Given the description of an element on the screen output the (x, y) to click on. 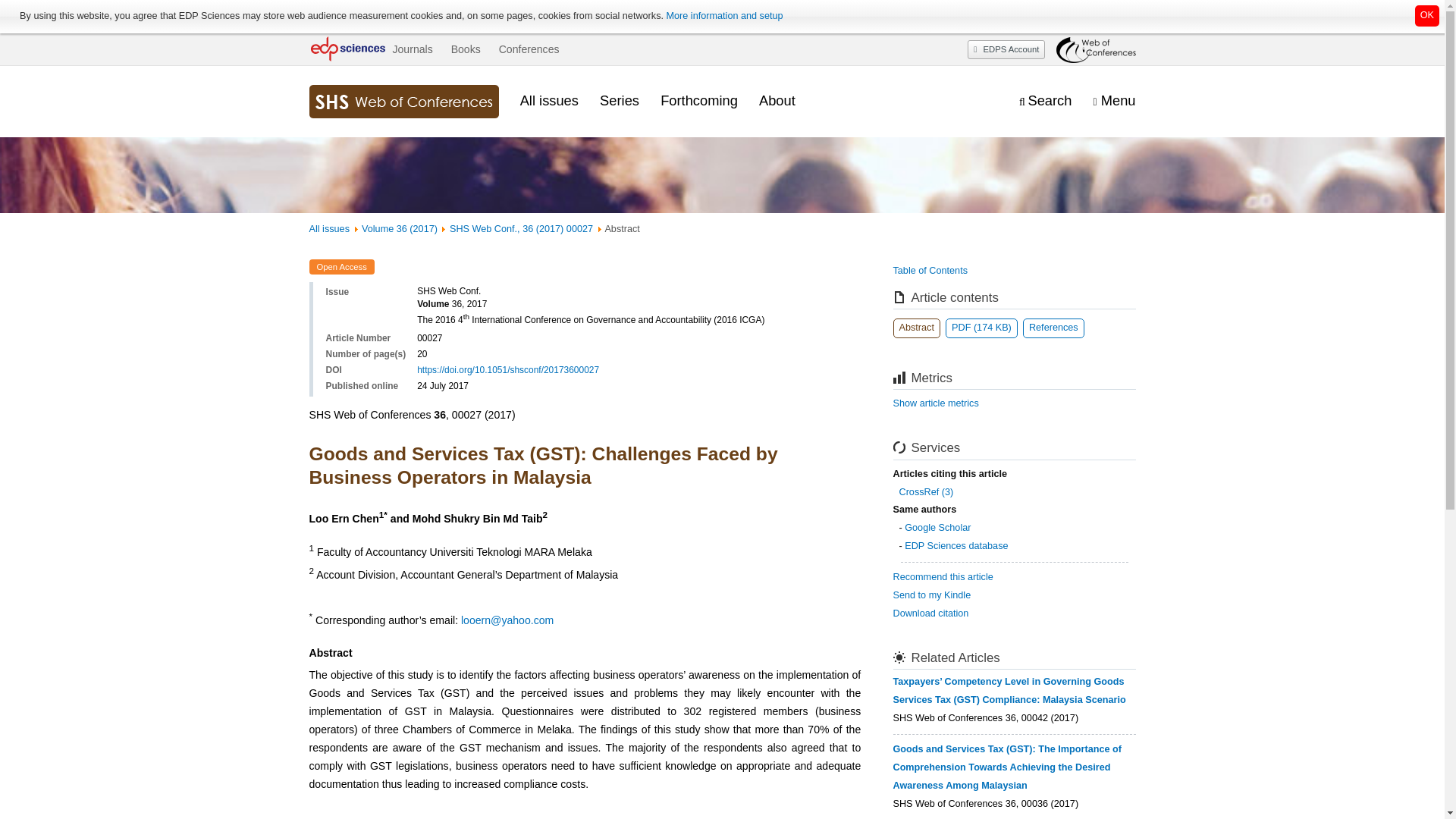
More information and setup (724, 15)
Journal homepage (403, 101)
Display the search engine (1045, 101)
Conferences (529, 49)
OK (1427, 15)
Books (465, 49)
Journals (411, 49)
Abstract (916, 328)
Click to close this notification (1427, 15)
